Given the description of an element on the screen output the (x, y) to click on. 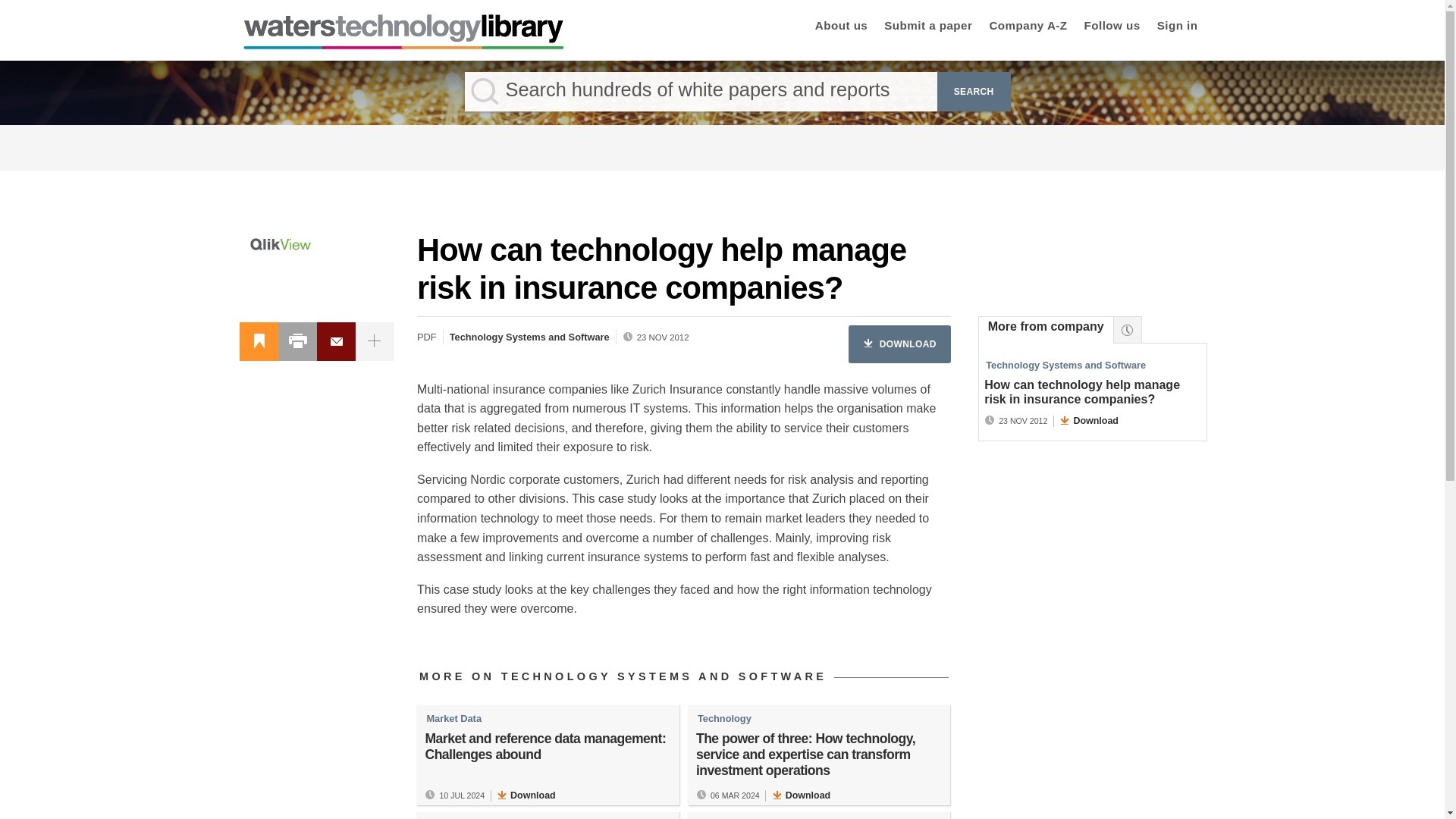
Submit a paper (927, 27)
Send to (336, 340)
Print (297, 340)
Return to homepage (403, 44)
Search (973, 91)
Company A-Z (1027, 27)
About us (841, 27)
Facebook (382, 340)
Save article (259, 341)
Search (973, 91)
